Given the description of an element on the screen output the (x, y) to click on. 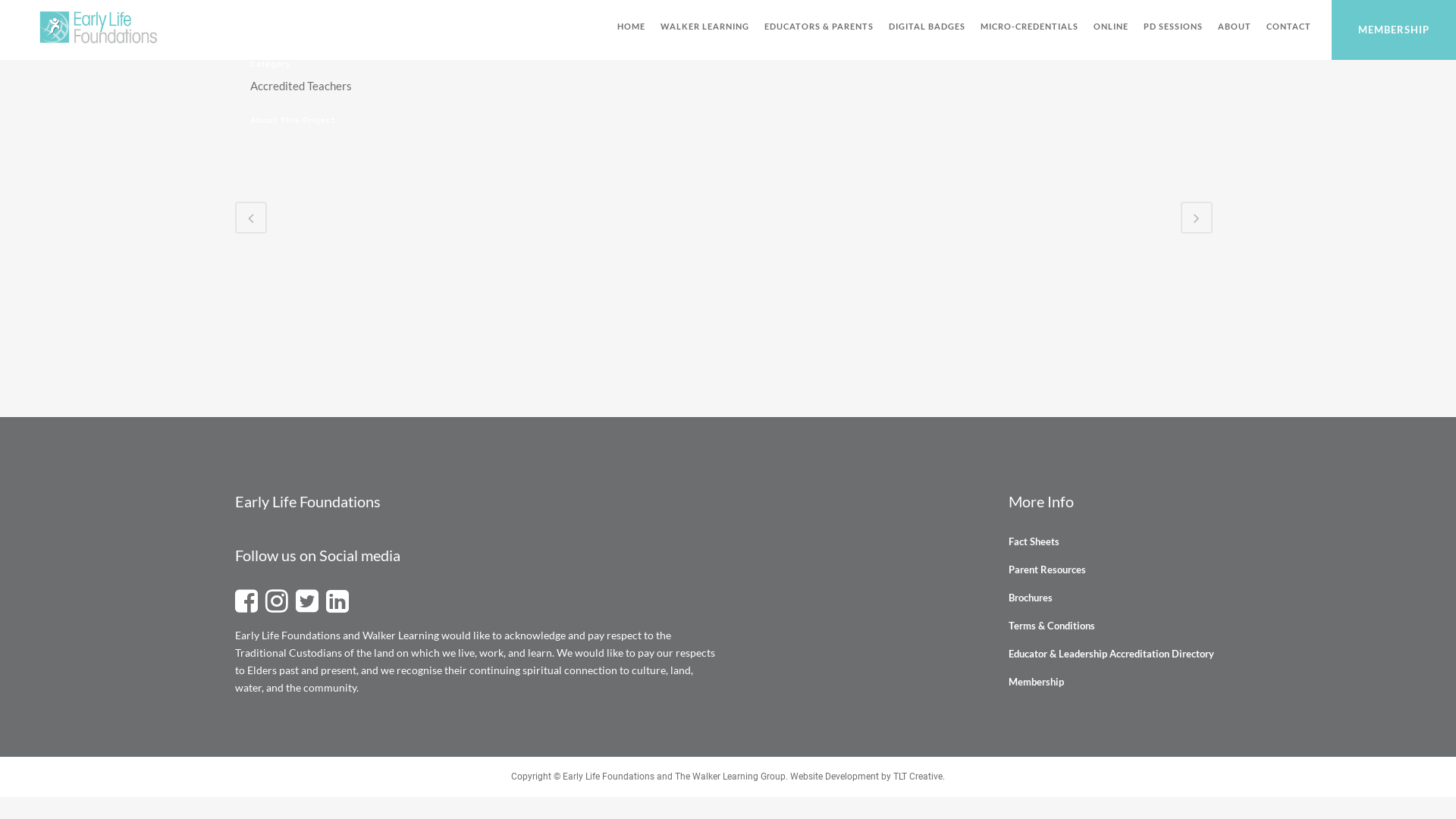
Educator & Leadership Accreditation Directory Element type: text (1120, 653)
Brochures Element type: text (1120, 597)
Membership Element type: text (1120, 681)
ABOUT Element type: text (1234, 26)
Parent Resources Element type: text (1120, 569)
DIGITAL BADGES Element type: text (926, 26)
HOME Element type: text (630, 26)
MICRO-CREDENTIALS Element type: text (1028, 26)
CONTACT Element type: text (1288, 26)
Fact Sheets Element type: text (1120, 541)
PD SESSIONS Element type: text (1172, 26)
ONLINE Element type: text (1110, 26)
Terms & Conditions Element type: text (1120, 625)
WALKER LEARNING Element type: text (704, 26)
EDUCATORS & PARENTS Element type: text (818, 26)
